Given the description of an element on the screen output the (x, y) to click on. 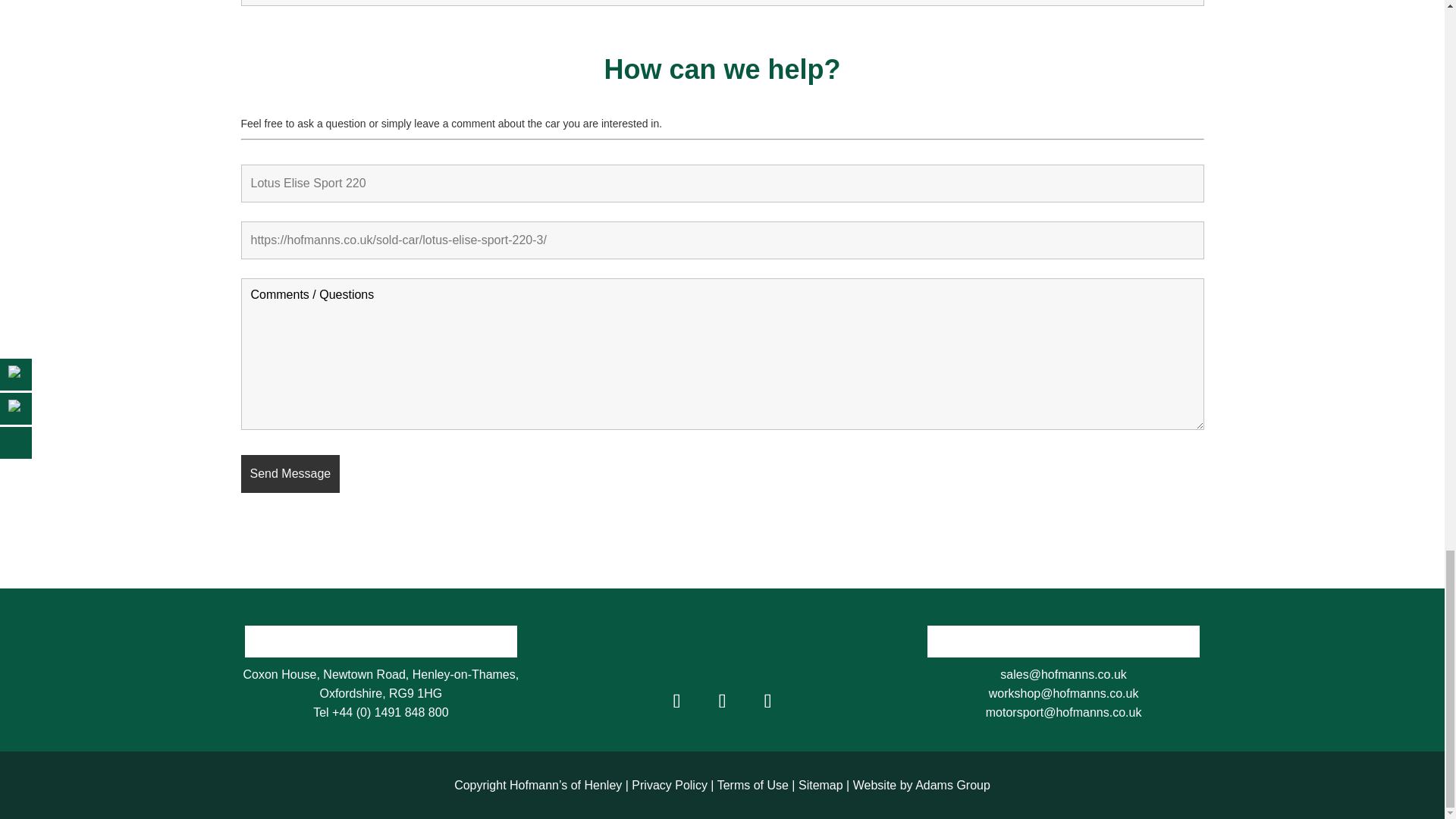
Lotus Elise Sport 220 (722, 183)
Follow on Youtube (767, 701)
Send Message (290, 474)
Follow on Facebook (675, 701)
Hofmanns Logo WHT (721, 633)
Follow on Instagram (721, 701)
